Given the description of an element on the screen output the (x, y) to click on. 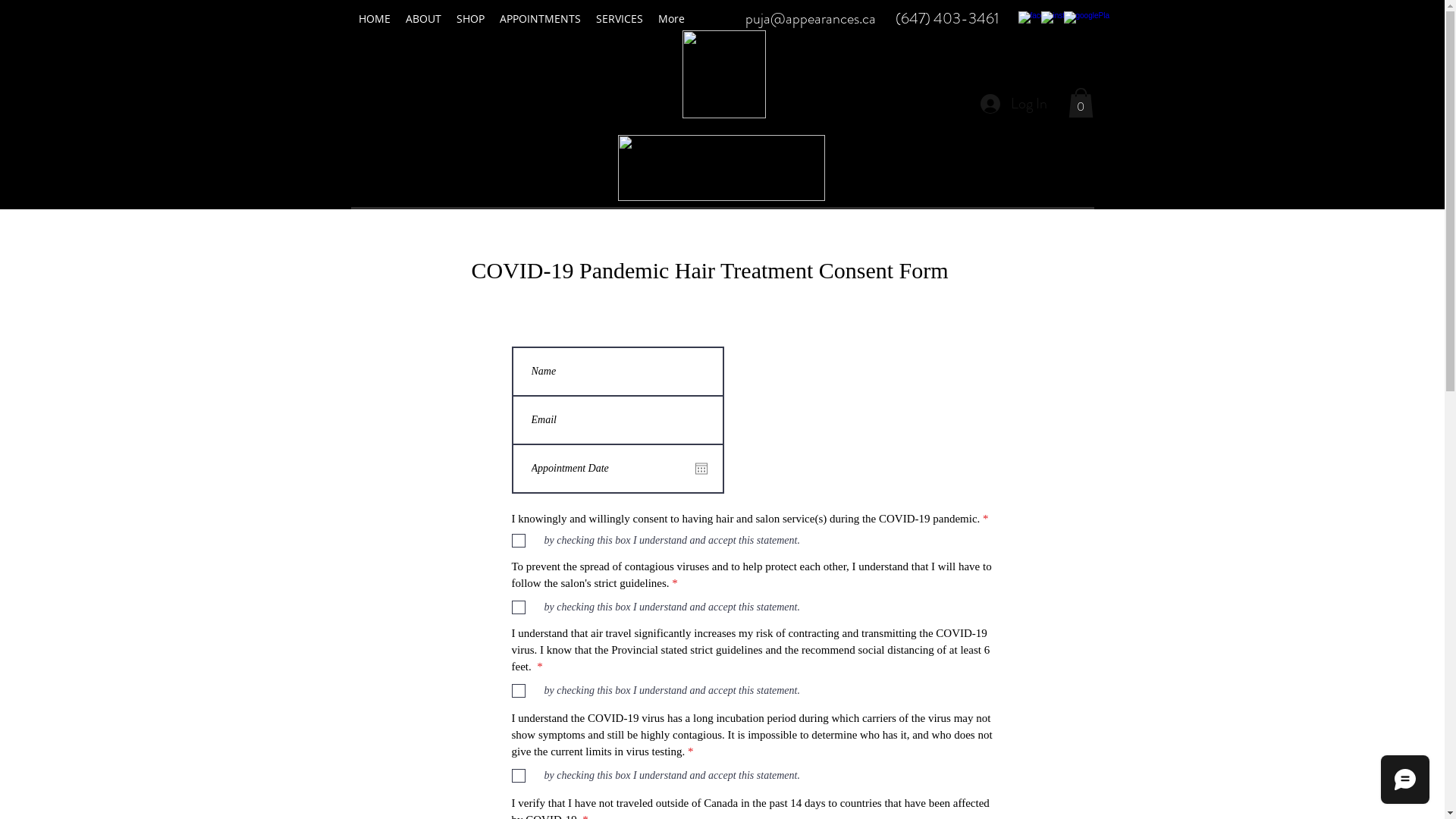
HOME Element type: text (373, 18)
puja@appearances.ca Element type: text (809, 18)
Log In Element type: text (1013, 103)
0 Element type: text (1079, 102)
SERVICES Element type: text (619, 18)
APPOINTMENTS Element type: text (539, 18)
SHOP Element type: text (470, 18)
ABOUT Element type: text (422, 18)
